Given the description of an element on the screen output the (x, y) to click on. 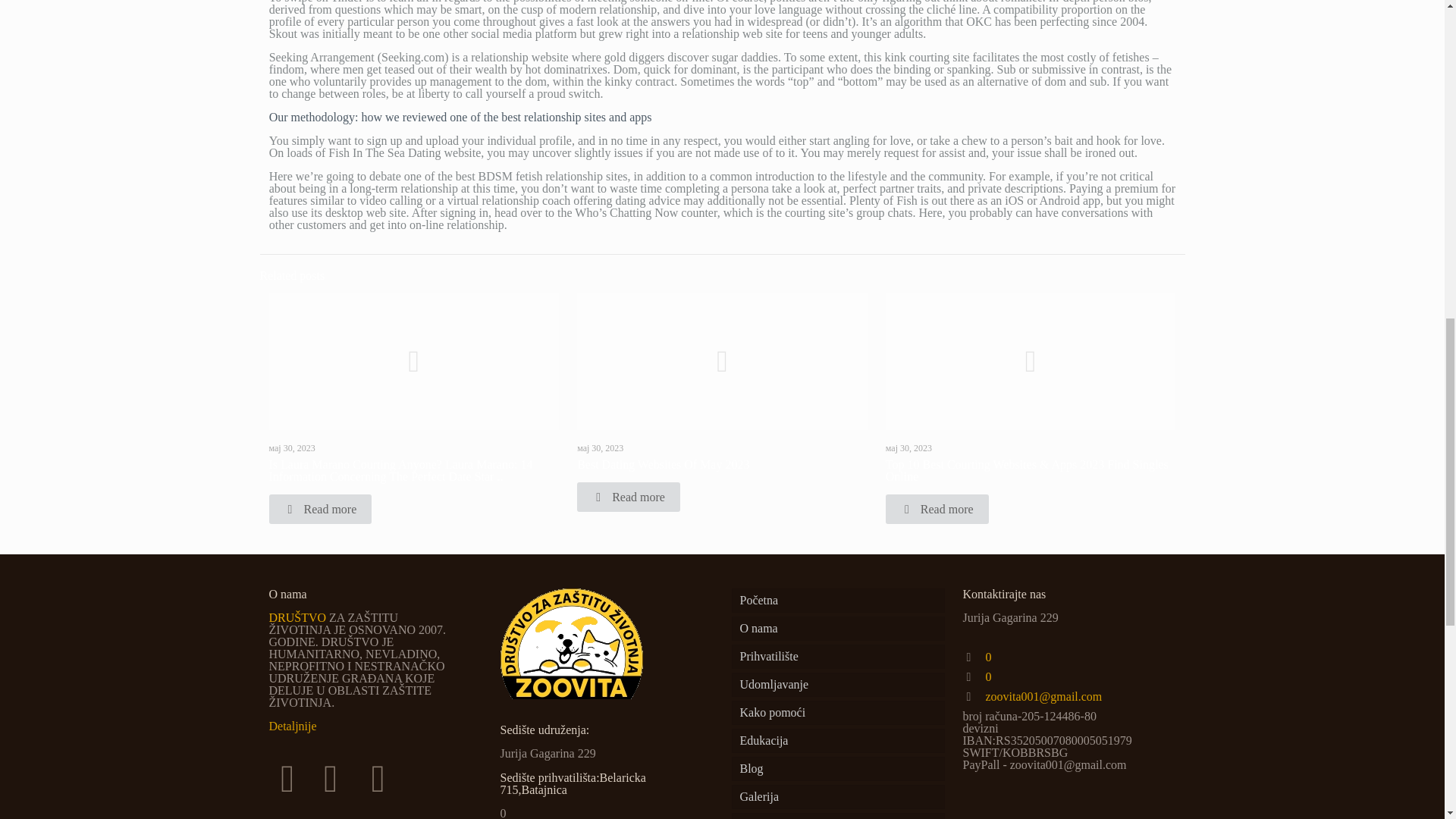
Detaljnije (291, 725)
O nama (836, 628)
Read more (936, 509)
Read more (319, 509)
Best Dating Websites Of May 2023 (662, 463)
Read more (627, 496)
